Given the description of an element on the screen output the (x, y) to click on. 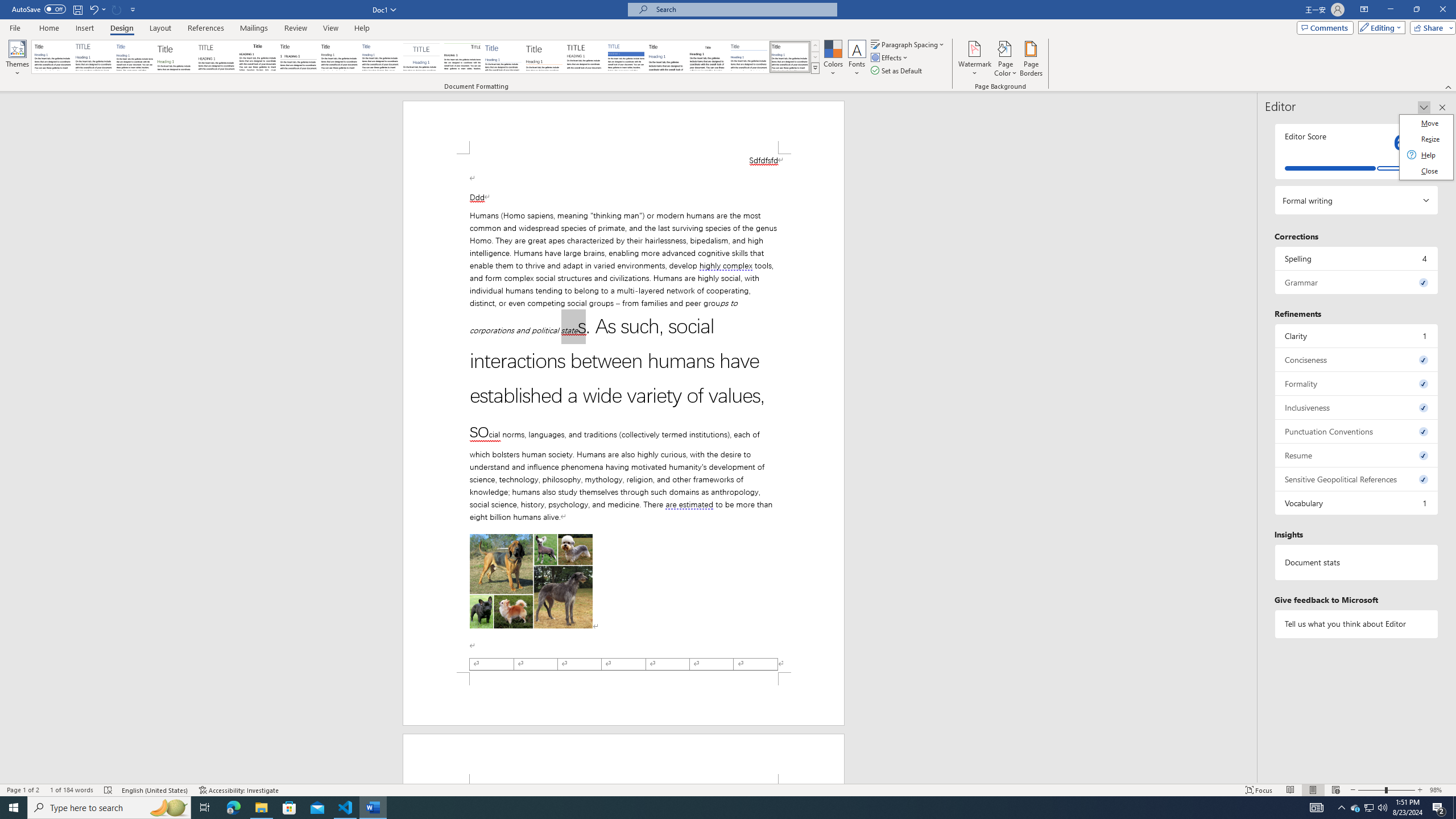
Grammar, 0 issues. Press space or enter to review items. (1356, 282)
Shaded (625, 56)
Black & White (Word 2013) (338, 56)
Casual (379, 56)
Document (52, 56)
Effects (890, 56)
AutomationID: QuickStylesSets (425, 56)
Set as Default (897, 69)
Lines (Stylish) (544, 56)
Lines (Distinctive) (462, 56)
Class: Net UI Tool Window (1426, 147)
